Given the description of an element on the screen output the (x, y) to click on. 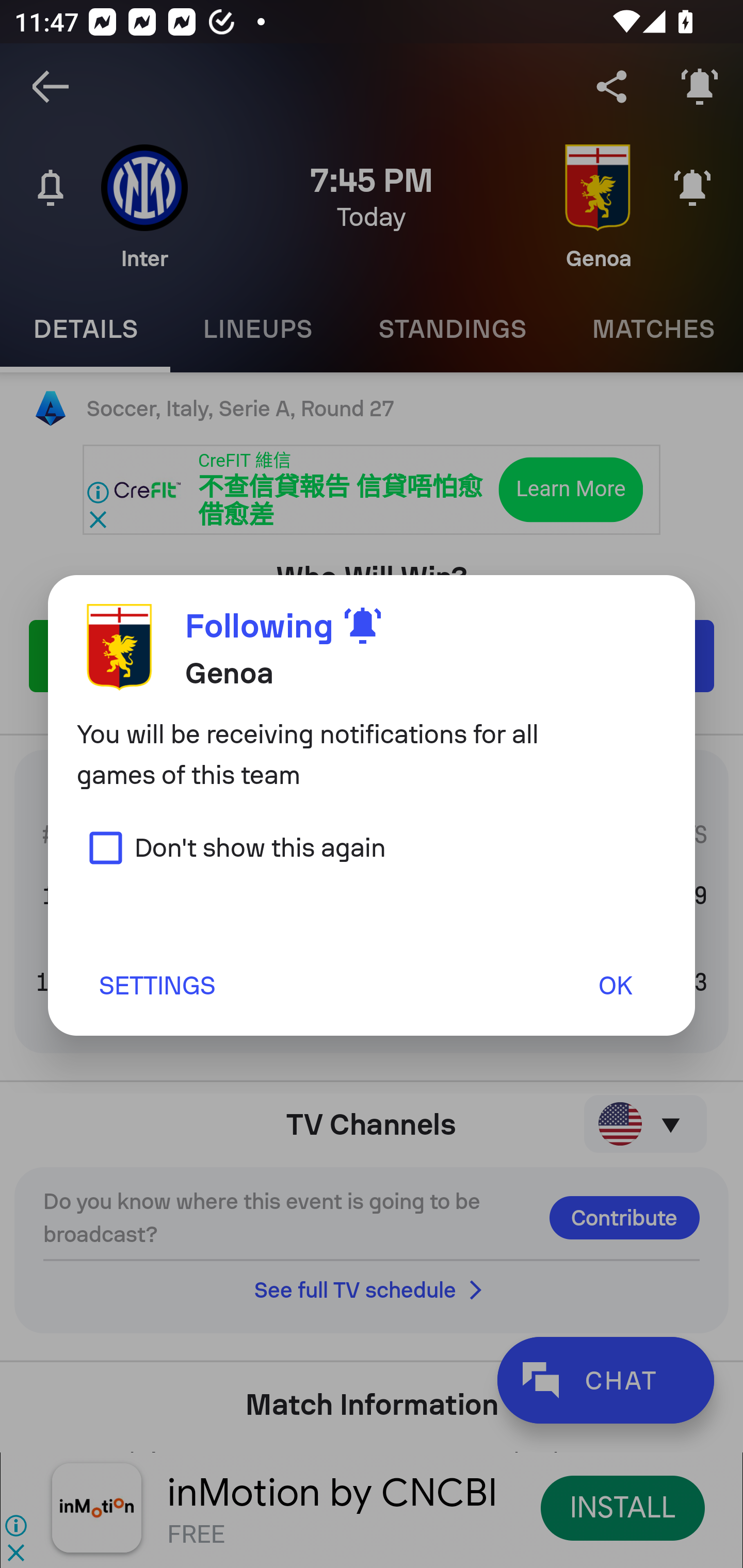
Don't show this again (231, 847)
SETTINGS (156, 985)
OK (615, 985)
